Given the description of an element on the screen output the (x, y) to click on. 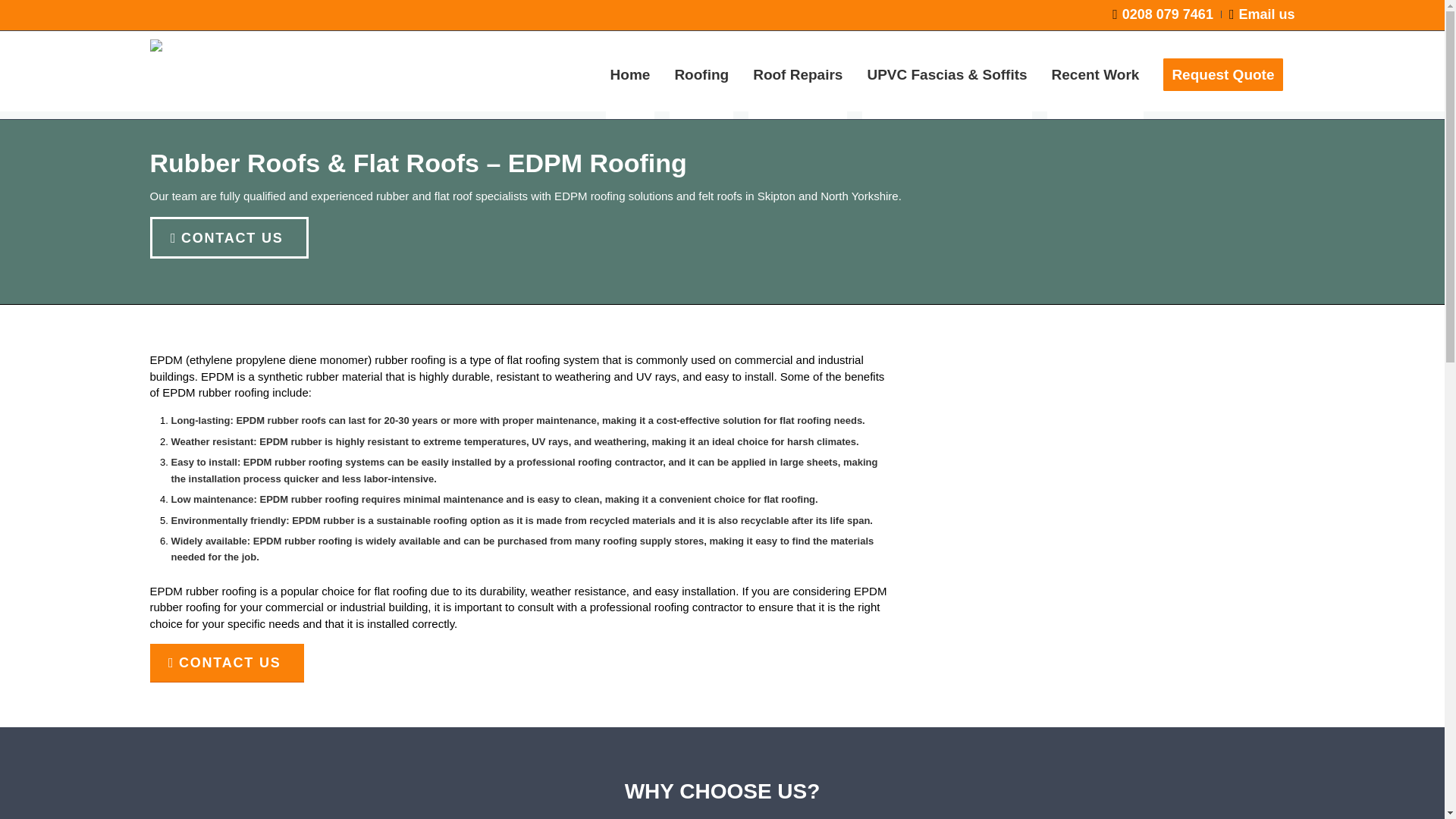
Roofing (701, 74)
Request Quote (1222, 74)
Home (630, 74)
CONTACT US (228, 238)
0208 079 7461 (1162, 14)
Roof Repairs (797, 74)
Recent Work (1095, 74)
Email us (1261, 14)
CONTACT US (226, 662)
